Given the description of an element on the screen output the (x, y) to click on. 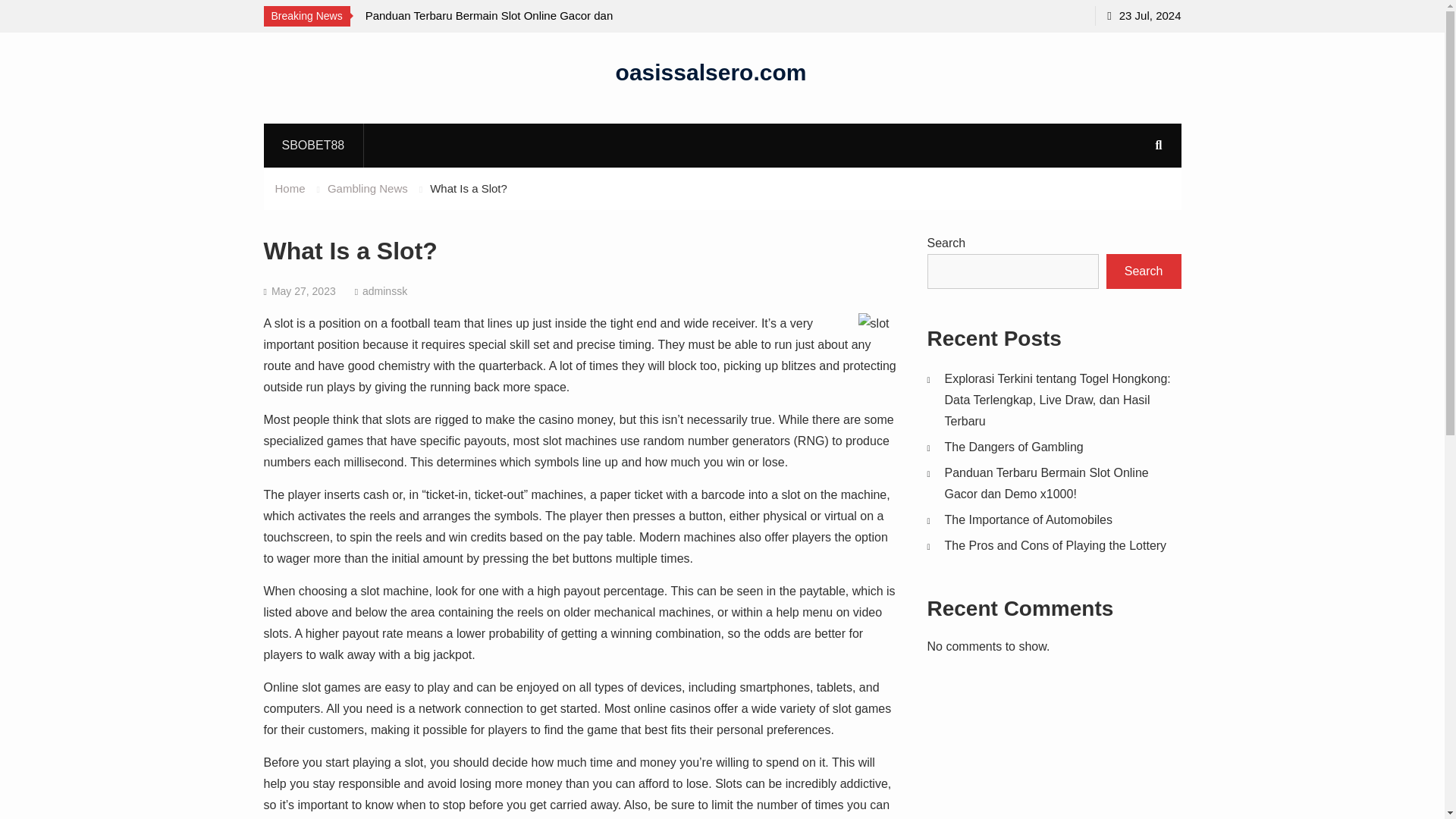
oasissalsero.com (710, 71)
Panduan Terbaru Bermain Slot Online Gacor dan Demo x1000! (502, 25)
Search (1143, 271)
Home (289, 187)
SBOBET88 (313, 144)
Panduan Terbaru Bermain Slot Online Gacor dan Demo x1000! (1046, 483)
adminssk (384, 291)
Gambling News (367, 187)
The Pros and Cons of Playing the Lottery (1055, 545)
The Dangers of Gambling (1013, 446)
The Importance of Automobiles (1028, 519)
May 27, 2023 (303, 291)
